Given the description of an element on the screen output the (x, y) to click on. 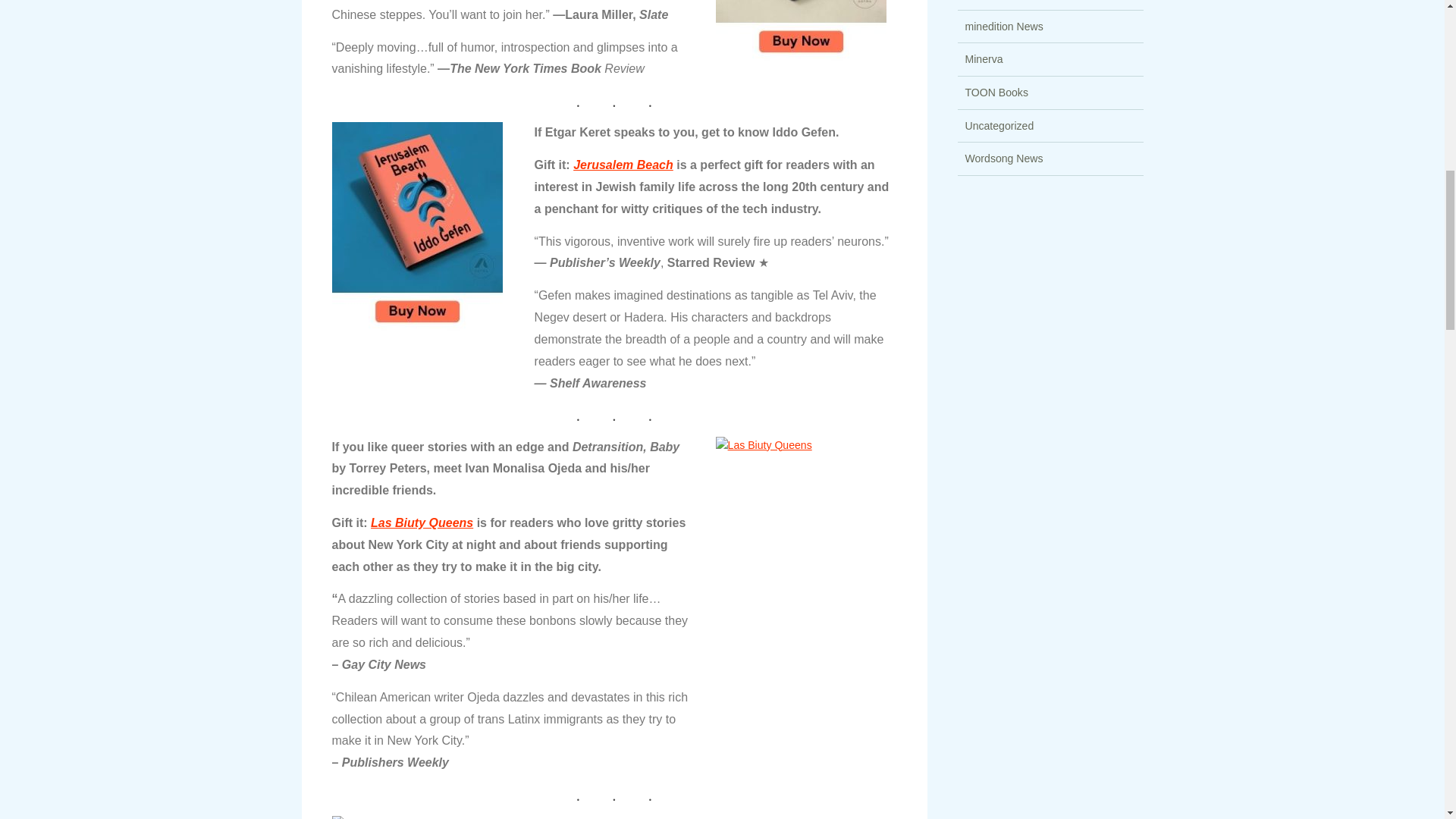
Jerusalem Beach (622, 164)
Las Biuty Queens (422, 522)
